Given the description of an element on the screen output the (x, y) to click on. 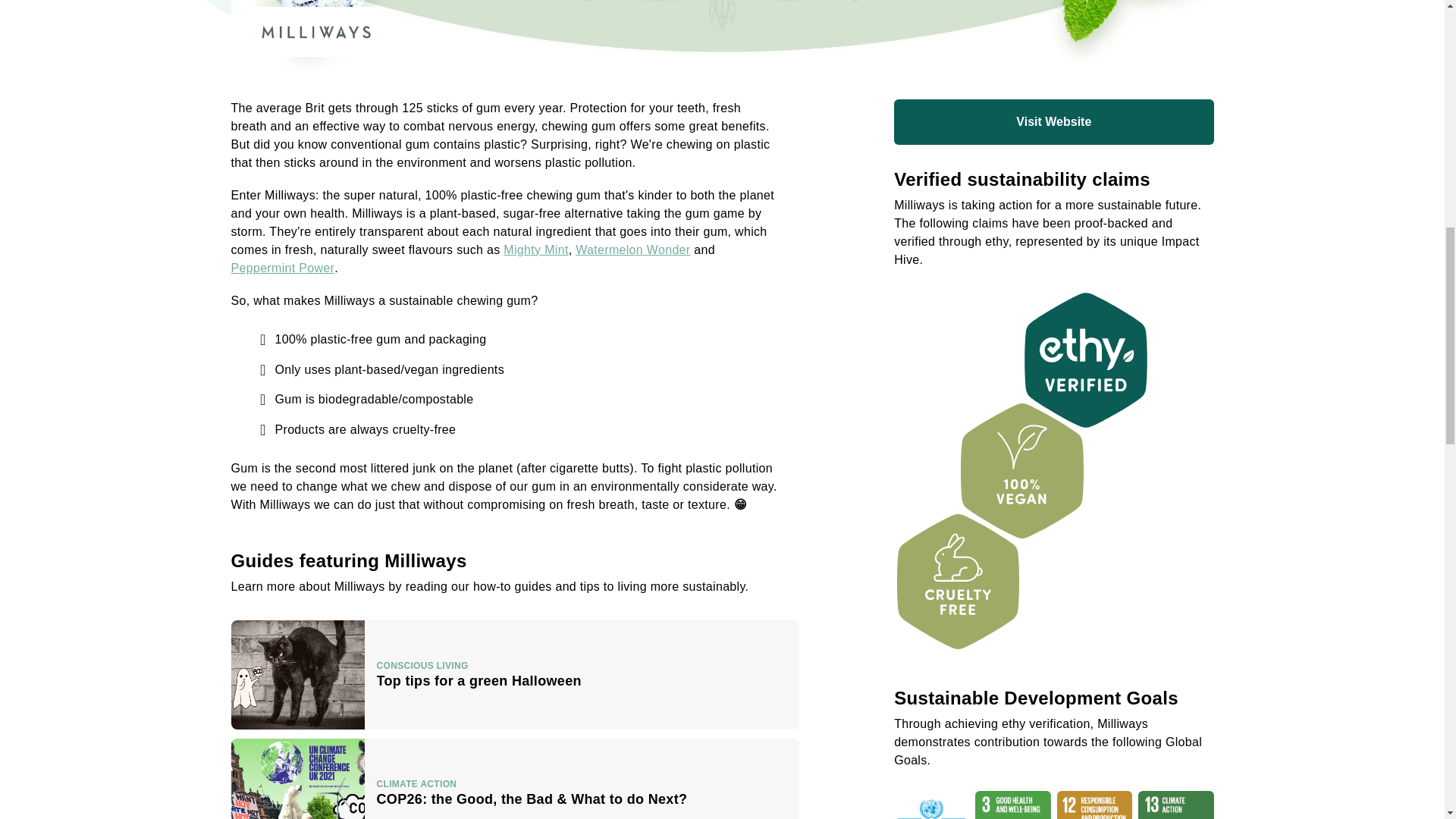
Watermelon Wonder (632, 249)
Mighty Mint (535, 249)
Visit Website (1052, 121)
Peppermint Power (513, 674)
